Given the description of an element on the screen output the (x, y) to click on. 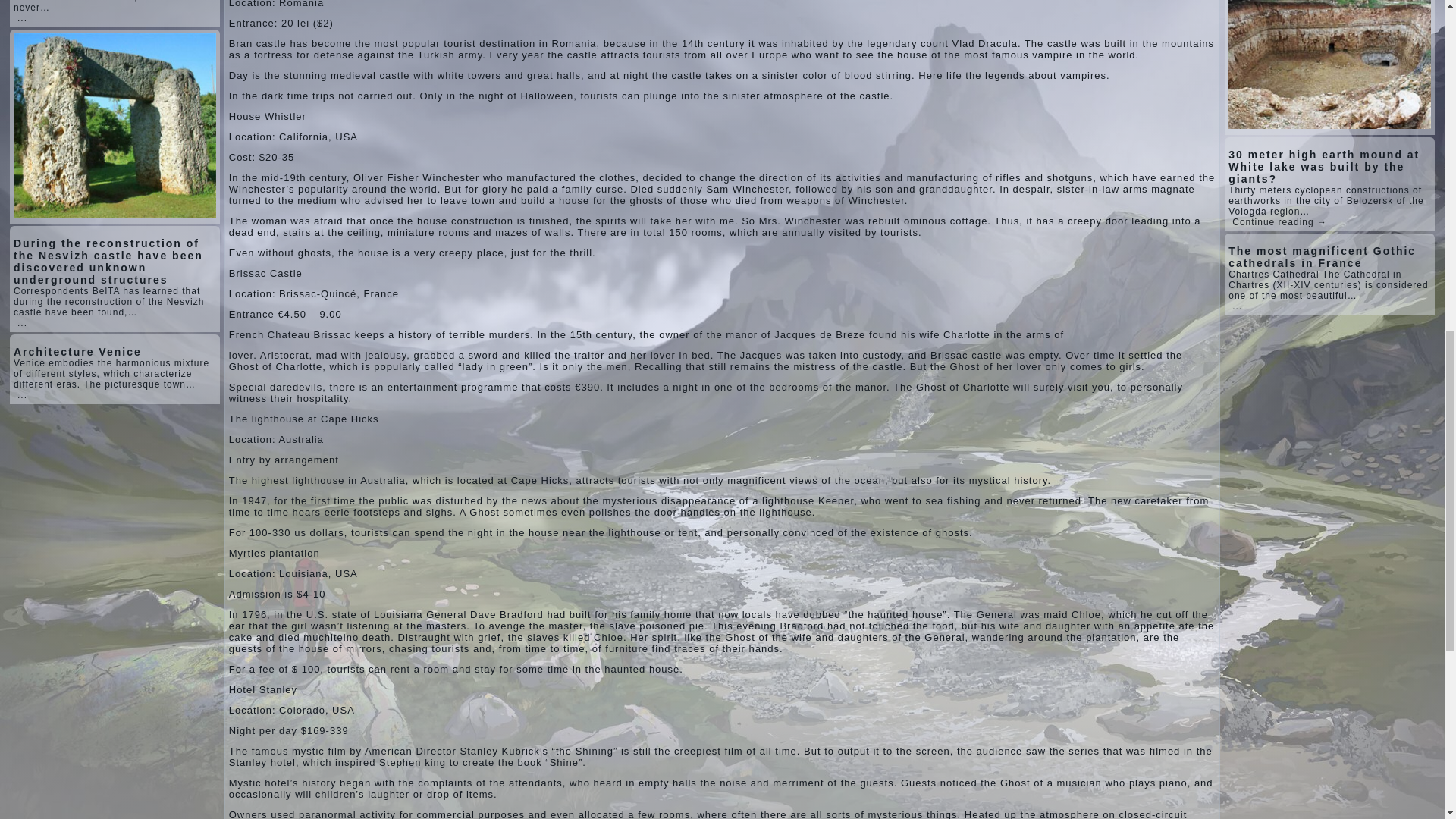
... (22, 18)
... (22, 394)
... (22, 322)
